Given the description of an element on the screen output the (x, y) to click on. 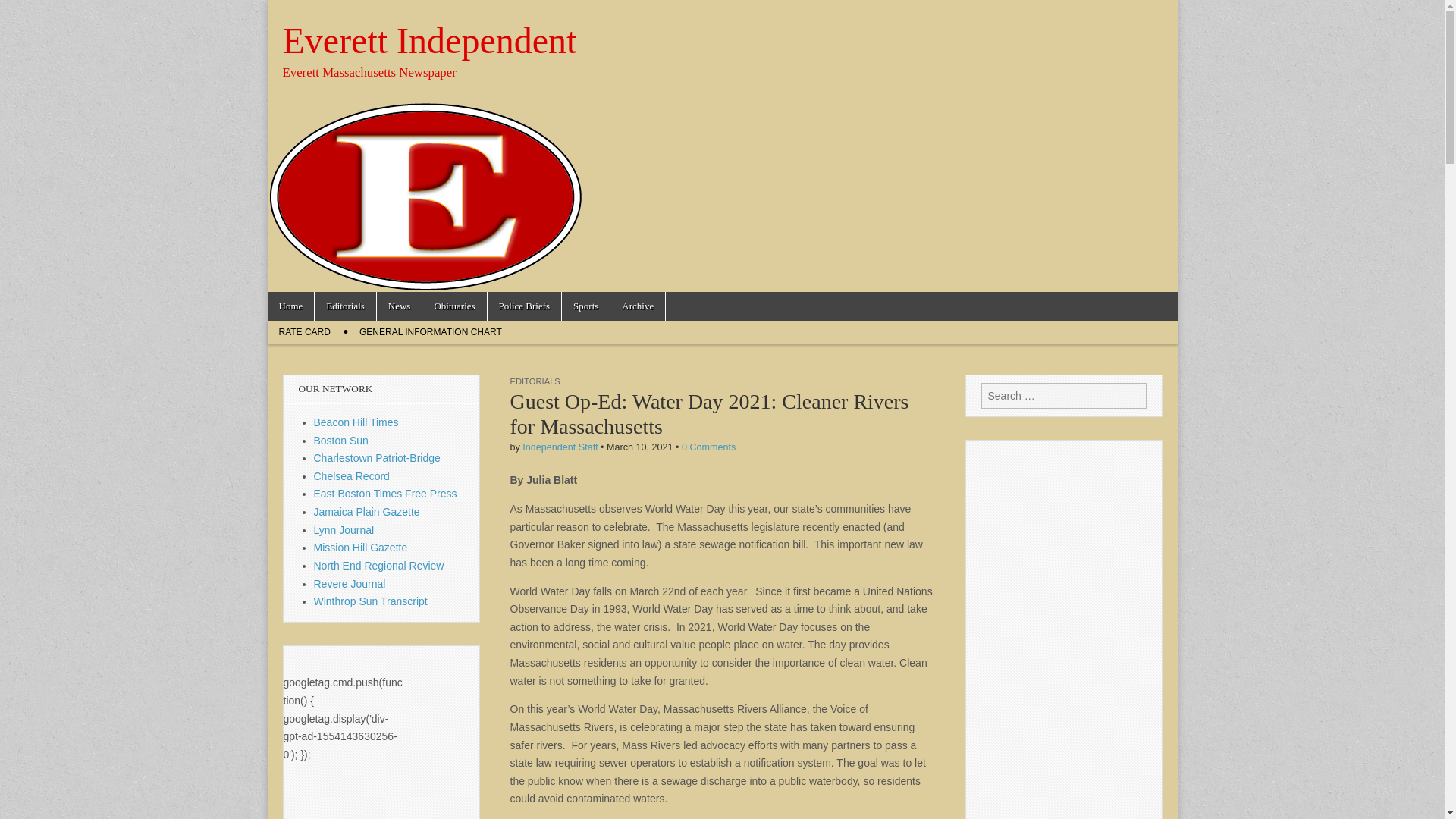
Sports (586, 306)
Home (290, 306)
Revere Journal (349, 583)
RATE CARD (303, 332)
Posts by Independent Staff (559, 447)
North End Regional Review (379, 565)
Charlestown Patriot-Bridge (377, 458)
EDITORIALS (534, 380)
Boston Sun (341, 440)
Mission Hill Gazette (360, 547)
Lynn Journal (344, 530)
News (399, 306)
Archive (637, 306)
